Given the description of an element on the screen output the (x, y) to click on. 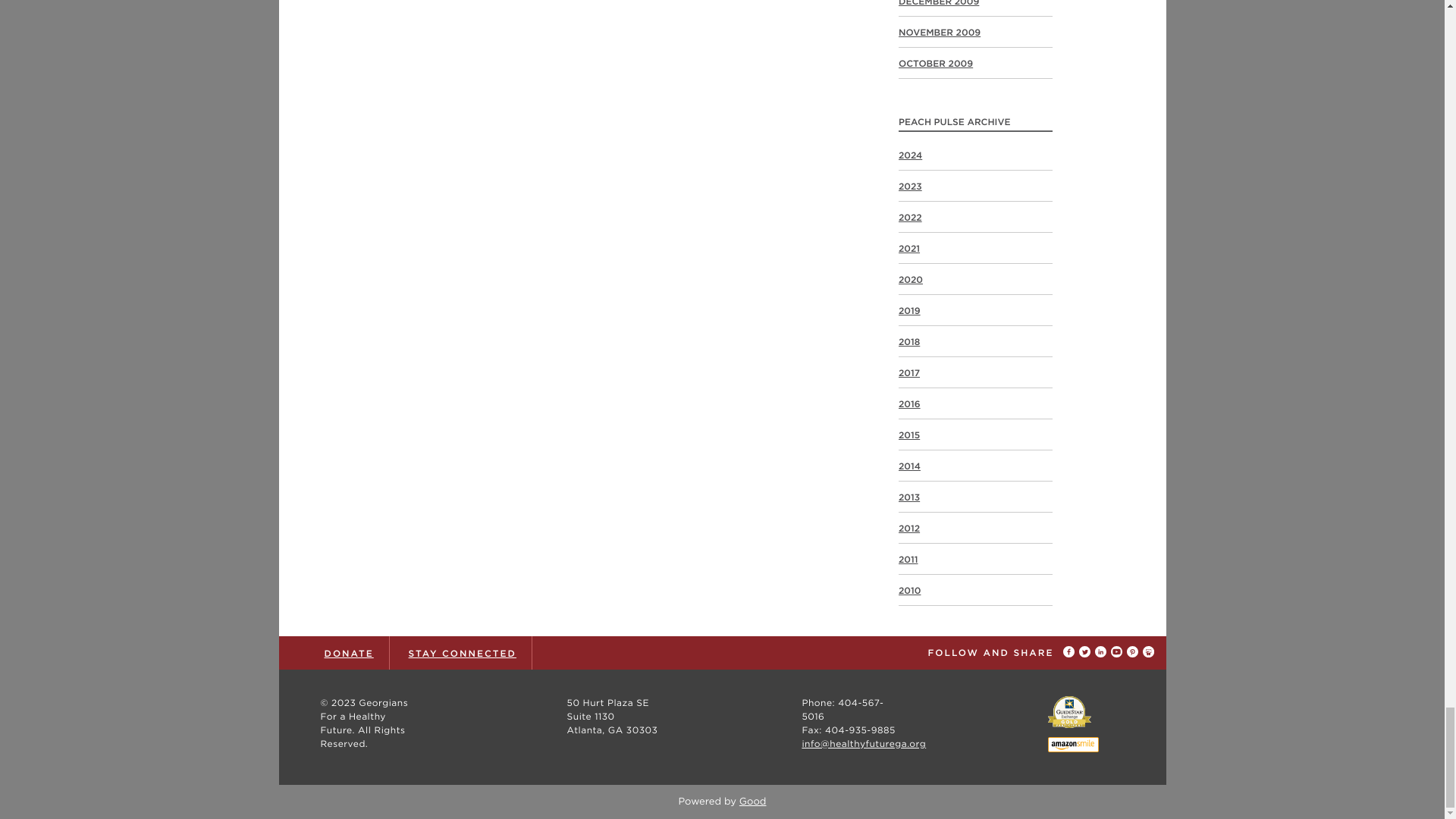
Share on twitter (1086, 652)
Share on linkedin (1102, 652)
Share on pinterest (1134, 652)
Share on youtube (1117, 652)
Good Agency - WordPress Agency for Nonprofits (753, 801)
Share on slideshare (1147, 652)
Share on facebook (1070, 652)
